Given the description of an element on the screen output the (x, y) to click on. 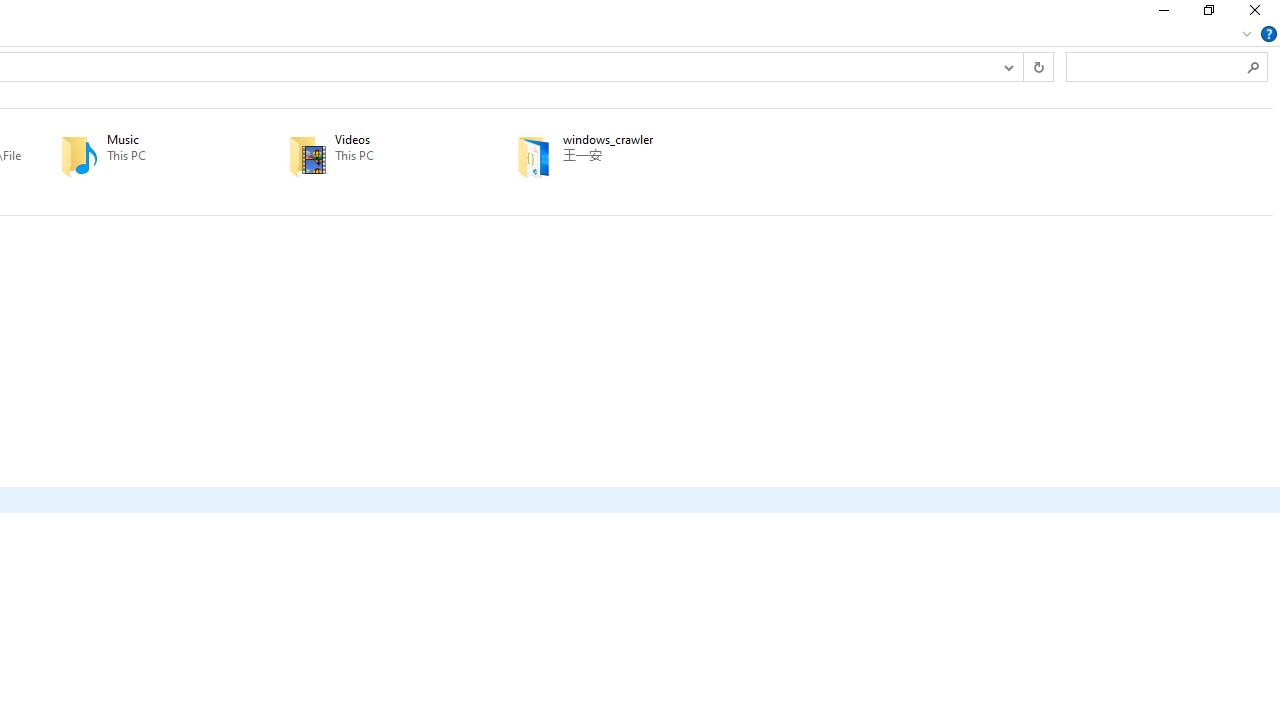
Search Box (1156, 66)
Pinned (635, 170)
Restore (1208, 14)
Music (146, 156)
Name (635, 139)
Minimize (1162, 14)
Videos (374, 156)
Previous Locations (1007, 66)
Address band toolbar (1023, 66)
Refresh "Quick access" (F5) (1037, 66)
Minimize the Ribbon (1247, 33)
Help (1269, 33)
Search (1253, 66)
Path (635, 155)
windows_crawler (602, 156)
